Given the description of an element on the screen output the (x, y) to click on. 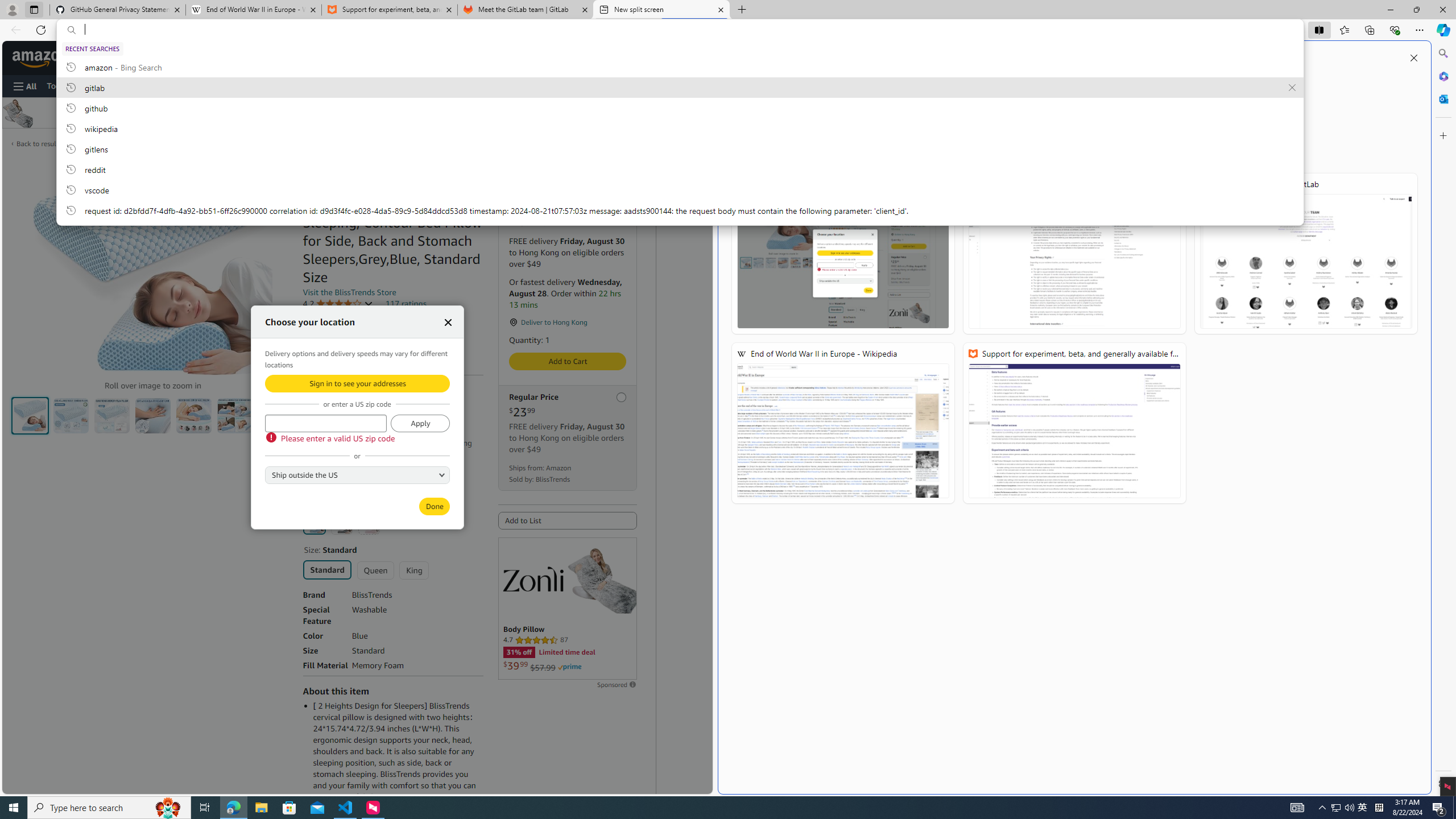
Blue (314, 522)
Prime (569, 666)
Add to List (567, 520)
gitlens, recent searches from history (679, 148)
Tabs you've opened (1037, 151)
Add to Cart (567, 360)
Deliver to Hong Kong (105, 57)
End of World War II in Europe - Wikipedia (842, 423)
Terms (373, 481)
Grey (341, 522)
Meet the GitLab team | GitLab (525, 9)
